Given the description of an element on the screen output the (x, y) to click on. 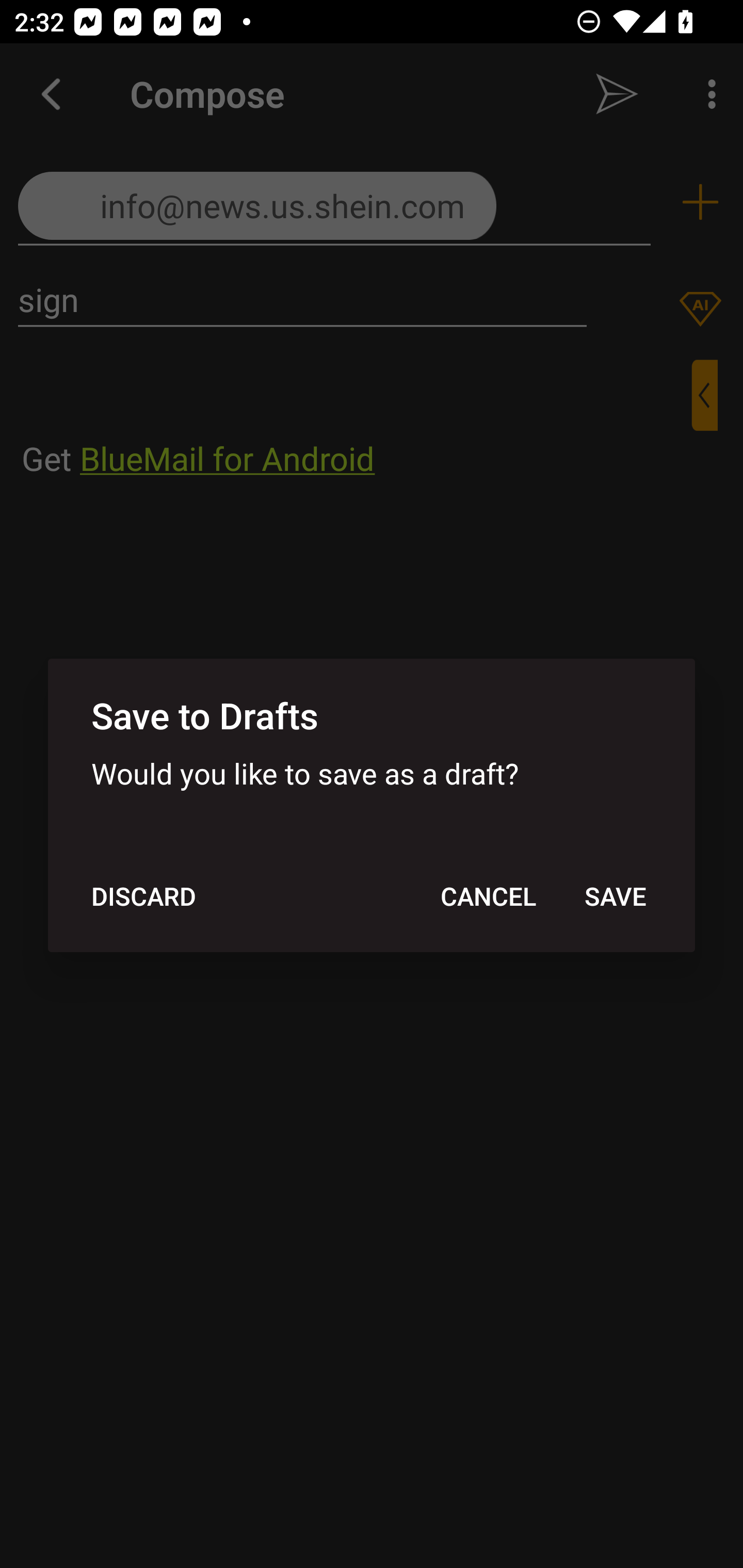
DISCARD (143, 895)
CANCEL (488, 895)
SAVE (615, 895)
